Given the description of an element on the screen output the (x, y) to click on. 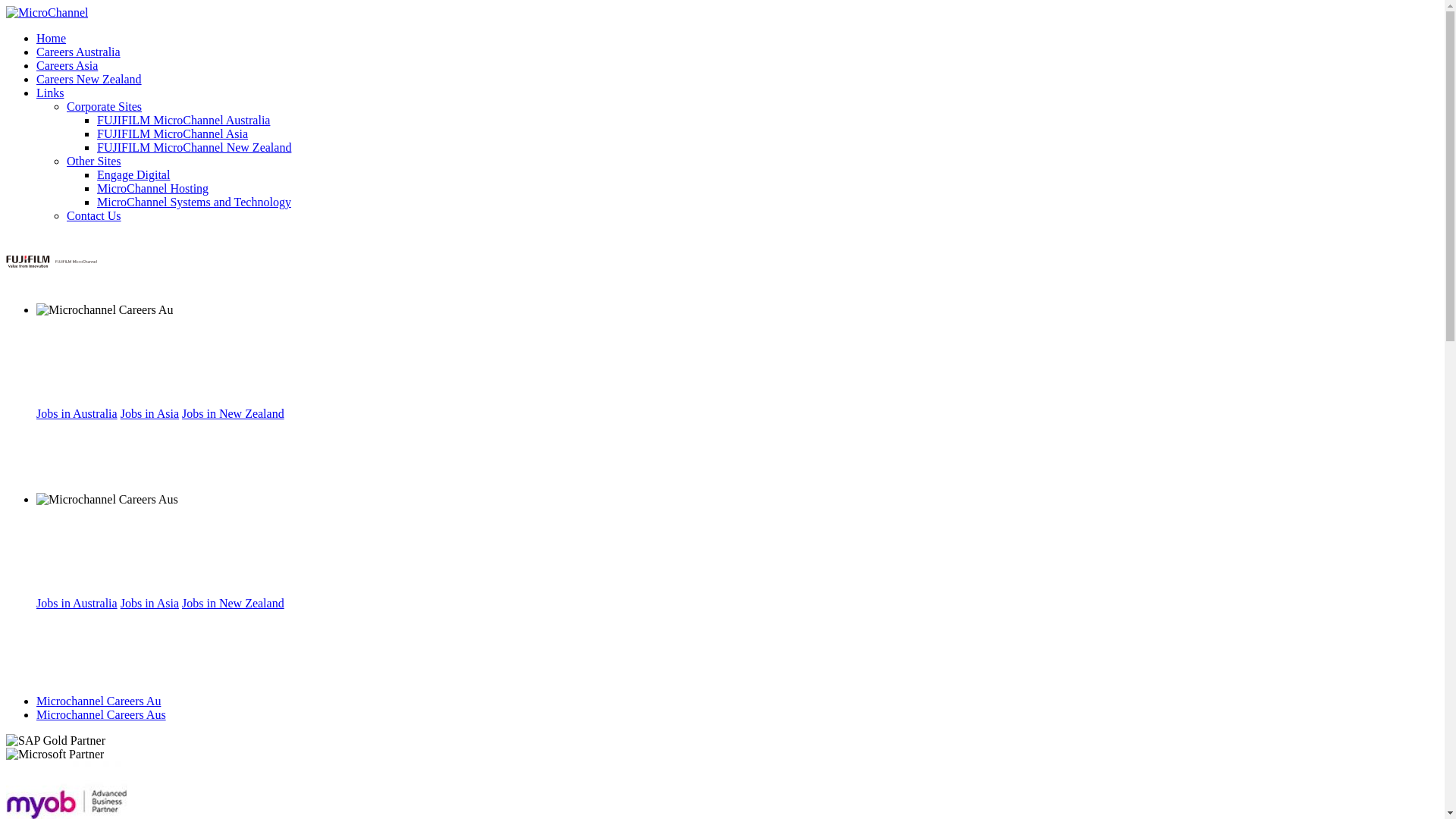
Jobs in Australia Element type: text (76, 413)
MicroChannel Hosting Element type: text (152, 188)
Engage Digital Element type: text (133, 174)
Microchannel Careers Aus Element type: text (101, 714)
MicroChannel Systems and Technology Element type: text (194, 201)
Other Sites Element type: text (93, 160)
Careers New Zealand Element type: text (88, 78)
Jobs in Asia Element type: text (149, 602)
Jobs in Australia Element type: text (76, 602)
Careers Asia Element type: text (66, 65)
Contact Us Element type: text (93, 215)
FUJIFILM MicroChannel New Zealand Element type: text (194, 147)
Links Element type: text (49, 92)
Microchannel Careers Au Element type: text (98, 700)
FUJIFILM MicroChannel Australia Element type: text (183, 119)
Jobs in New Zealand Element type: text (233, 602)
Home Element type: text (50, 37)
FUJIFILM MicroChannel Asia Element type: text (172, 133)
Jobs in New Zealand Element type: text (233, 413)
Jobs in Asia Element type: text (149, 413)
Careers Australia Element type: text (78, 51)
Corporate Sites Element type: text (103, 106)
